Given the description of an element on the screen output the (x, y) to click on. 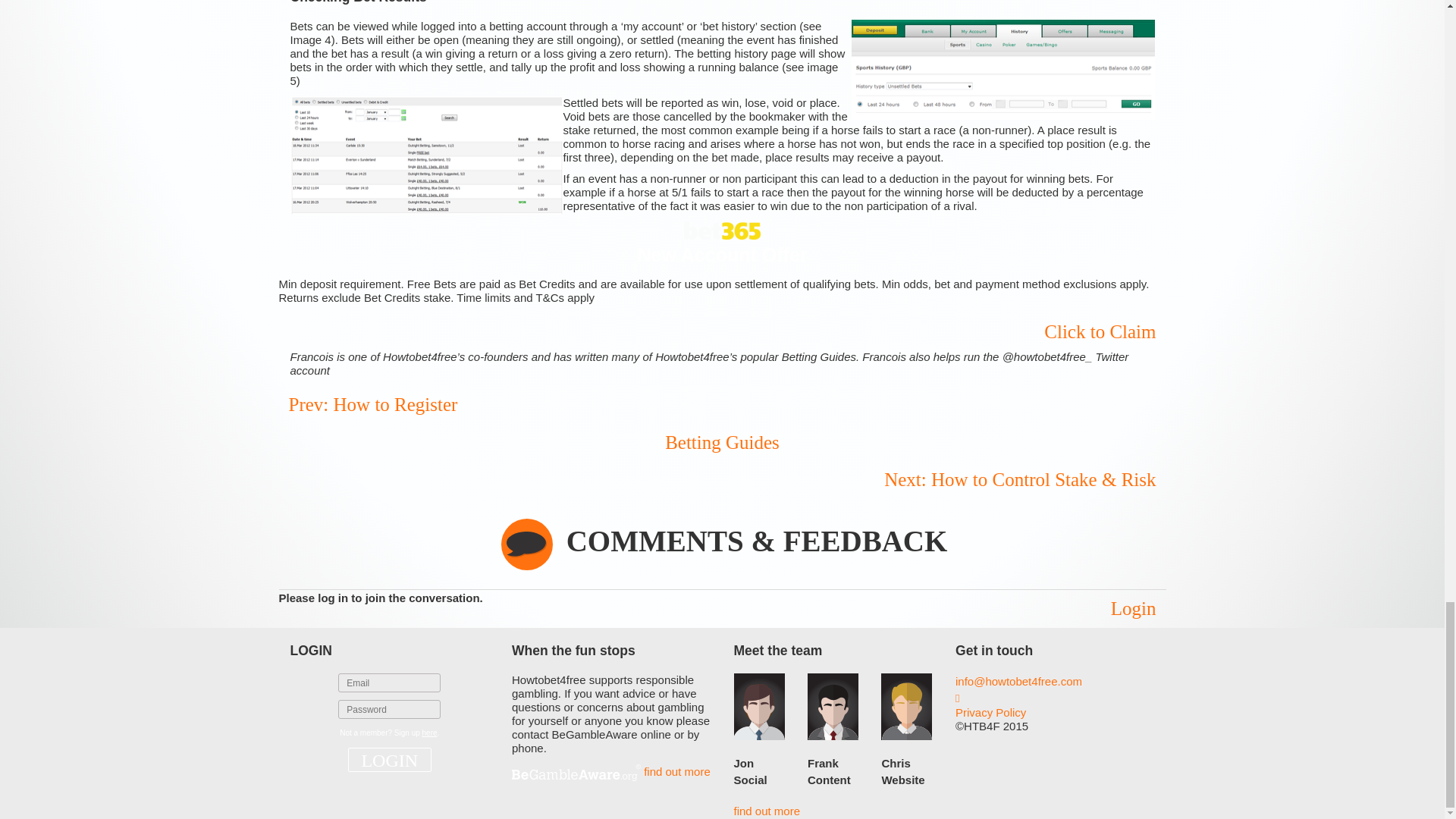
Image 5 - An example of a betting history page on Bet Victor (425, 155)
Image 4 - An example of a 'my account' area on Bet365 (1002, 69)
LOGIN (388, 759)
